Given the description of an element on the screen output the (x, y) to click on. 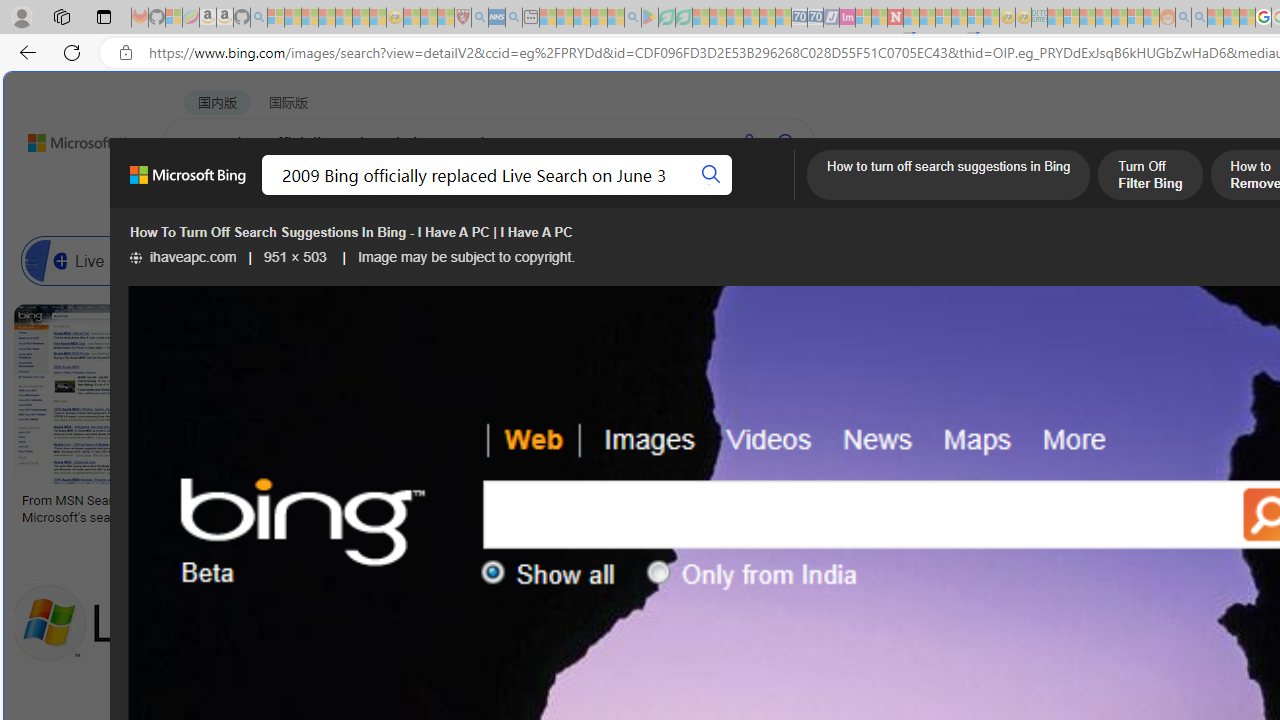
Bing Ai Search Engine Powered (943, 260)
Kinda Frugal - MSN - Sleeping (1119, 17)
14 Common Myths Debunked By Scientific Facts - Sleeping (927, 17)
Live Search (100, 260)
DICT (717, 195)
ACADEMIC (635, 195)
DICT (717, 195)
